Given the description of an element on the screen output the (x, y) to click on. 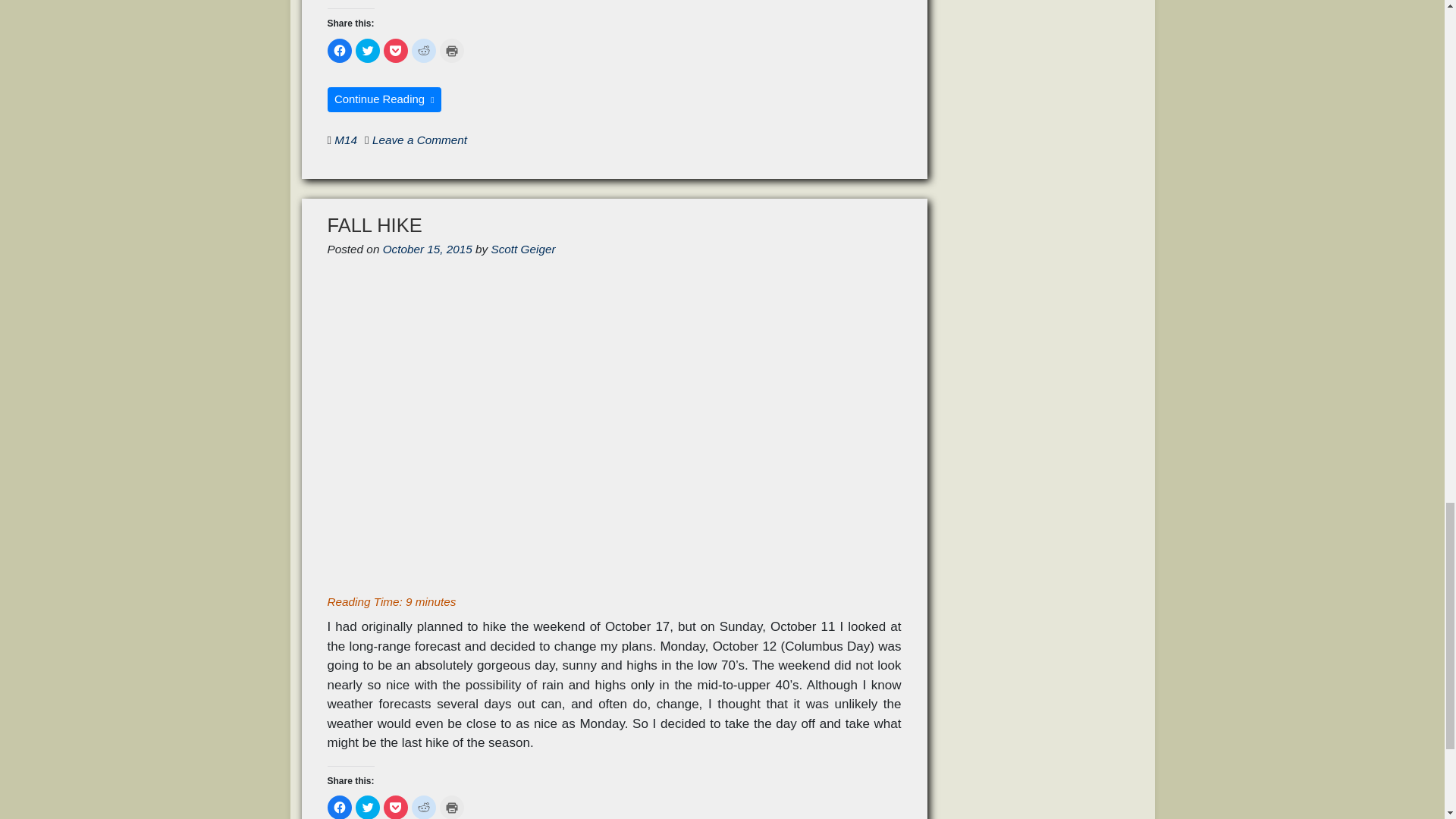
Click to print (451, 50)
Click to share on Twitter (366, 807)
Click to share on Twitter (366, 50)
Tags (329, 139)
Scott Geiger (524, 248)
Click to share on Pocket (395, 50)
M14 (345, 139)
Comments (367, 139)
Click to share on Facebook (339, 50)
Click to share on Facebook (339, 807)
Continue Reading (384, 99)
Click to share on Reddit (422, 50)
FALL HIKE (374, 224)
October 15, 2015 (426, 248)
